Given the description of an element on the screen output the (x, y) to click on. 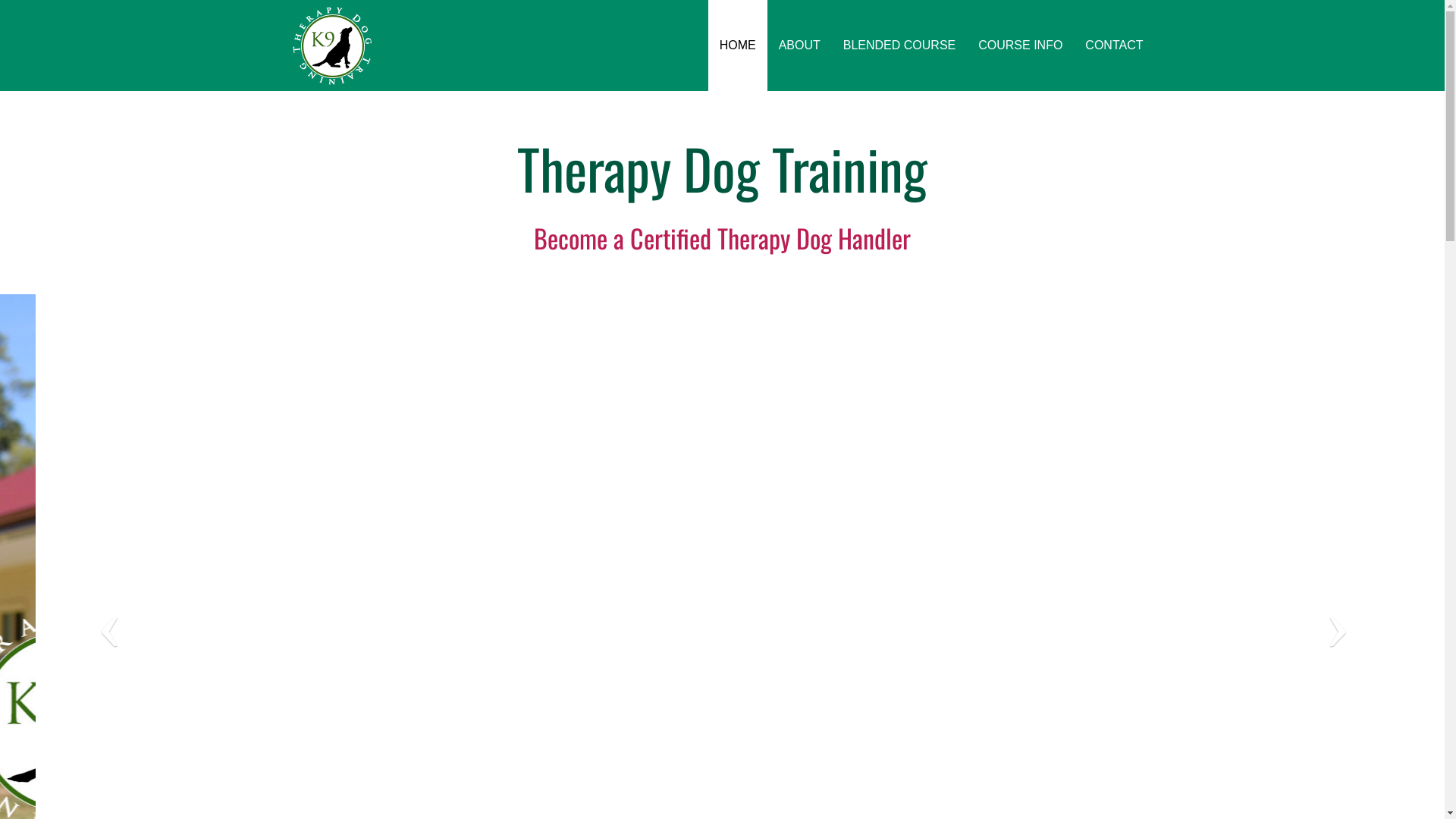
CONTACT Element type: text (1113, 45)
HOME Element type: text (737, 45)
BLENDED COURSE Element type: text (898, 45)
COURSE INFO Element type: text (1019, 45)
ABOUT Element type: text (799, 45)
K9 Support Element type: hover (331, 45)
